Given the description of an element on the screen output the (x, y) to click on. 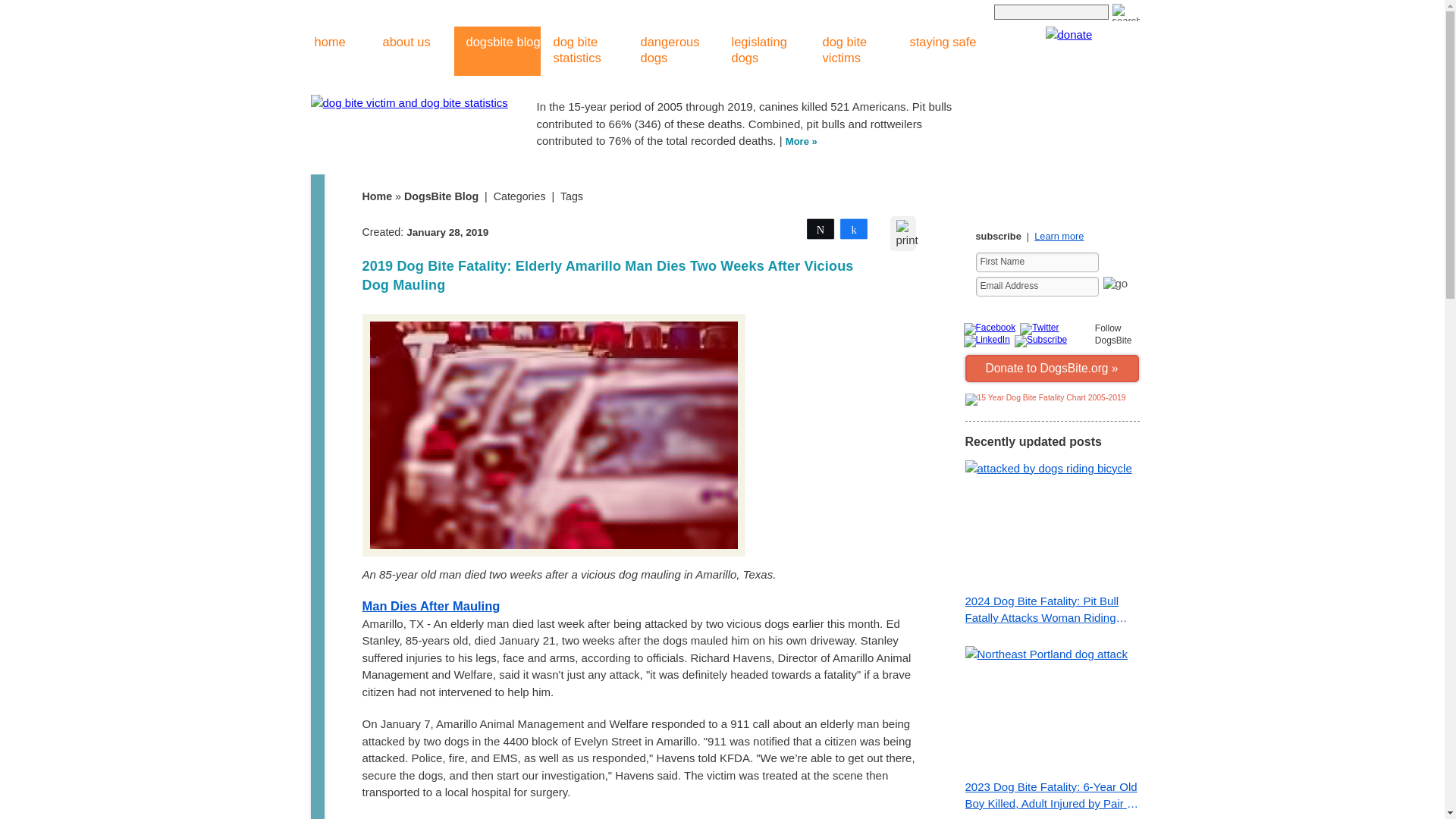
9:21 pm (446, 232)
about us (399, 51)
dog bite statistics (584, 51)
dangerous dogs (673, 51)
Email Address (1036, 286)
First Name (1036, 261)
Join Now (1116, 287)
dogsbite blog (496, 51)
